Given the description of an element on the screen output the (x, y) to click on. 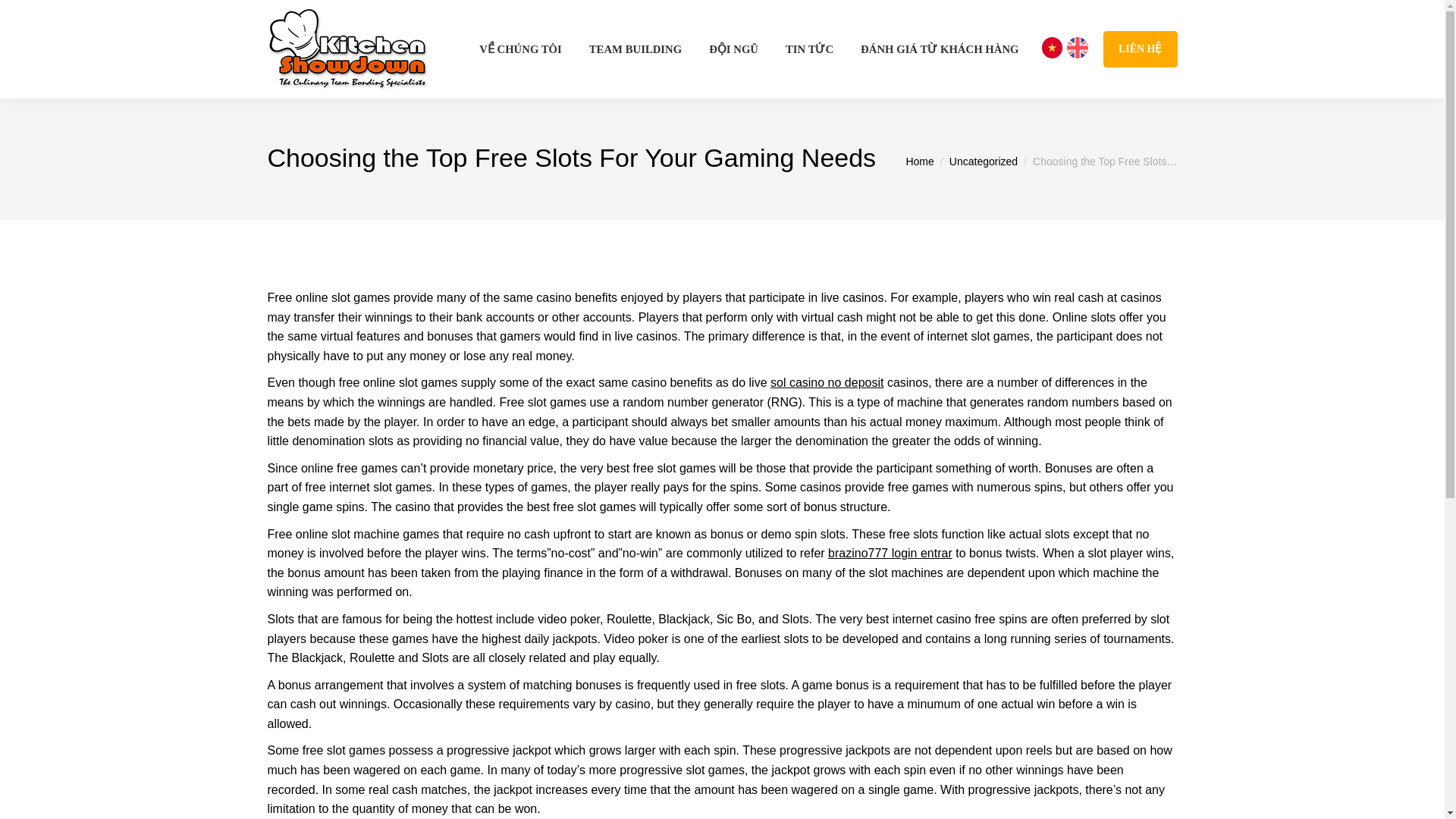
TEAM BUILDING (635, 48)
